Given the description of an element on the screen output the (x, y) to click on. 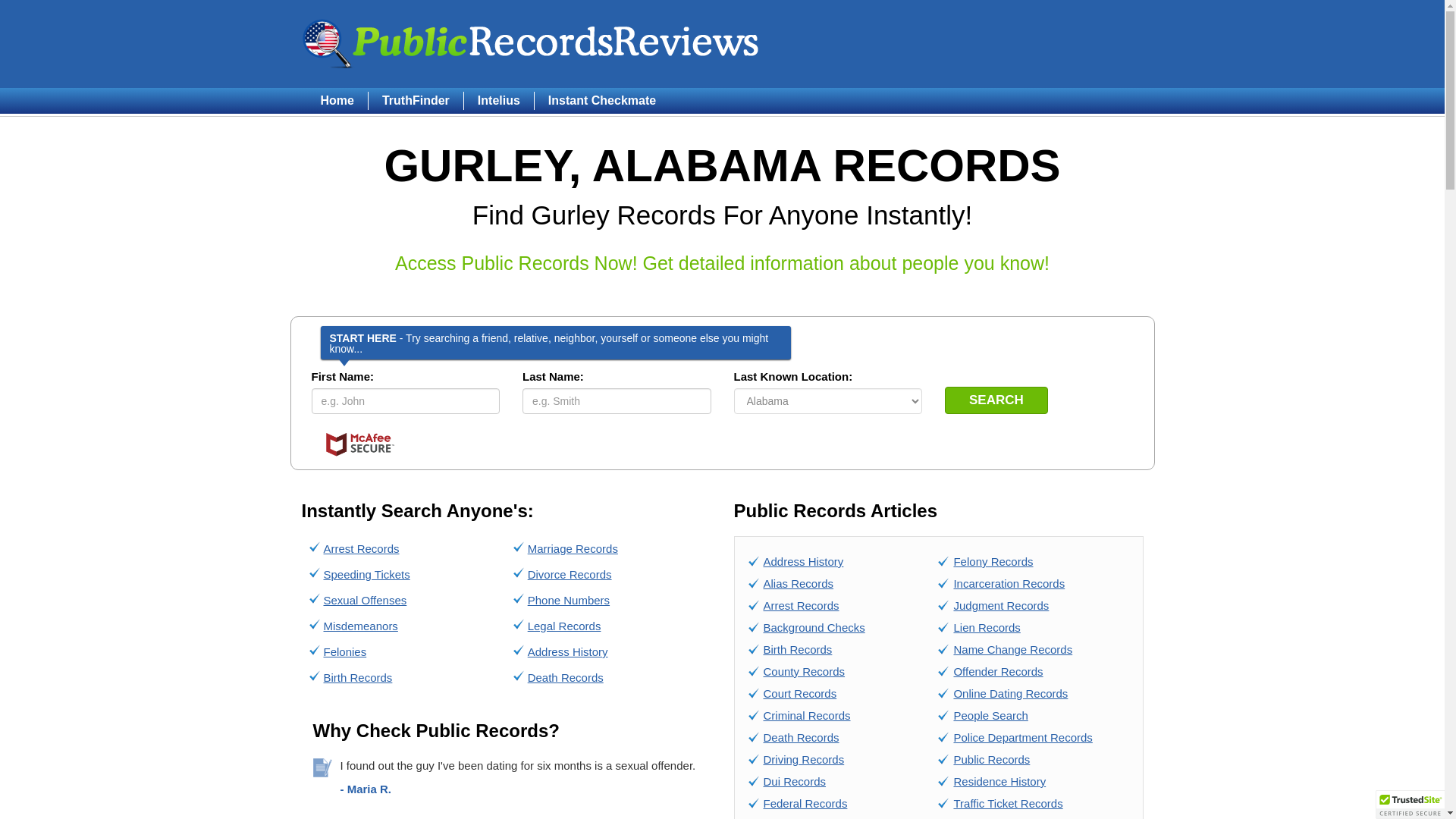
Death Records (565, 676)
Alias Records (797, 583)
Felony Records (992, 561)
Criminal Records (806, 715)
Felonies (344, 651)
TruthFinder (415, 100)
Address History (567, 651)
Arrest Records (800, 604)
Misdemeanors (360, 625)
Divorce Records (569, 574)
